Given the description of an element on the screen output the (x, y) to click on. 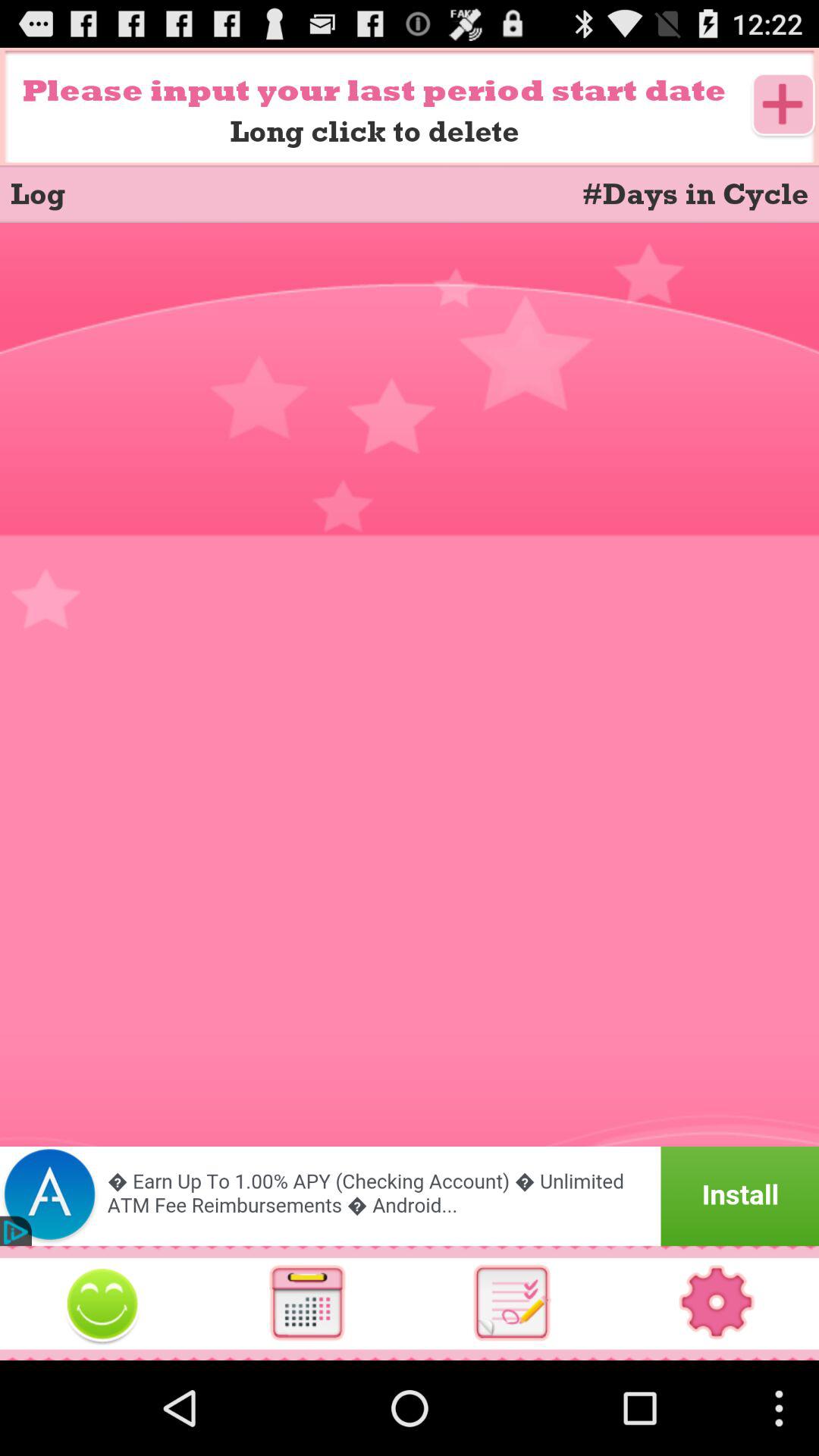
go to home (102, 1302)
